Given the description of an element on the screen output the (x, y) to click on. 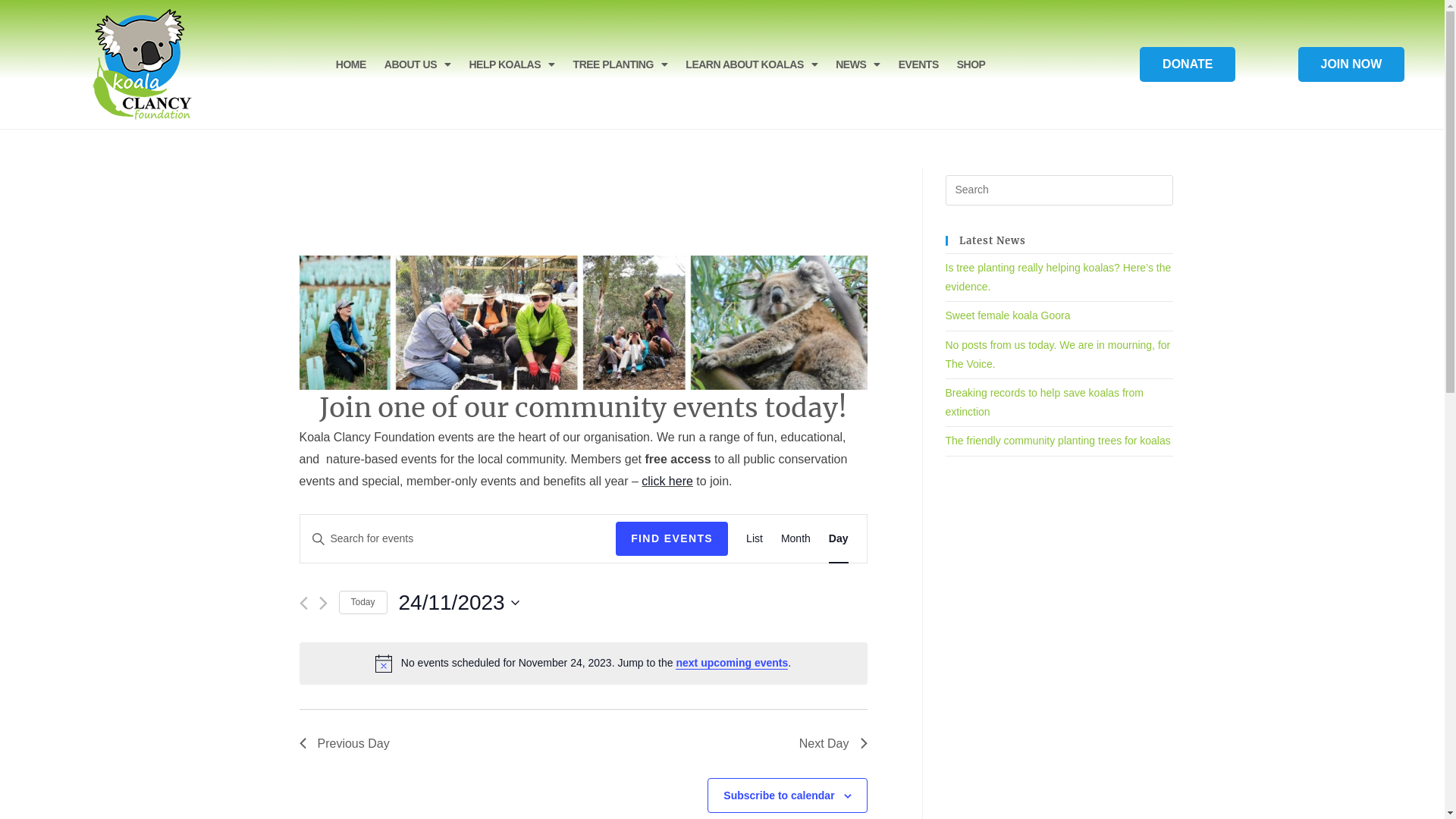
JOIN NOW Element type: text (1351, 64)
DONATE Element type: text (1187, 64)
FIND EVENTS Element type: text (671, 538)
Next day Element type: hover (322, 603)
Next Day Element type: text (833, 743)
Day Element type: text (838, 538)
Breaking records to help save koalas from extinction Element type: text (1043, 401)
Previous Day Element type: text (343, 743)
List Element type: text (754, 538)
The friendly community planting trees for koalas Element type: text (1057, 440)
LEARN ABOUT KOALAS Element type: text (751, 64)
HOME Element type: text (350, 64)
Month Element type: text (795, 538)
Today Element type: text (362, 602)
TREE PLANTING Element type: text (620, 64)
SHOP Element type: text (970, 64)
next upcoming events Element type: text (731, 662)
Sweet female koala Goora Element type: text (1007, 315)
No posts from us today. We are in mourning, for The Voice. Element type: text (1057, 354)
HELP KOALAS Element type: text (511, 64)
Subscribe to calendar Element type: text (778, 795)
24/11/2023 Element type: text (458, 602)
NEWS Element type: text (857, 64)
EVENTS Element type: text (918, 64)
Previous day Element type: hover (302, 603)
ABOUT US Element type: text (417, 64)
click here Element type: text (667, 480)
